Given the description of an element on the screen output the (x, y) to click on. 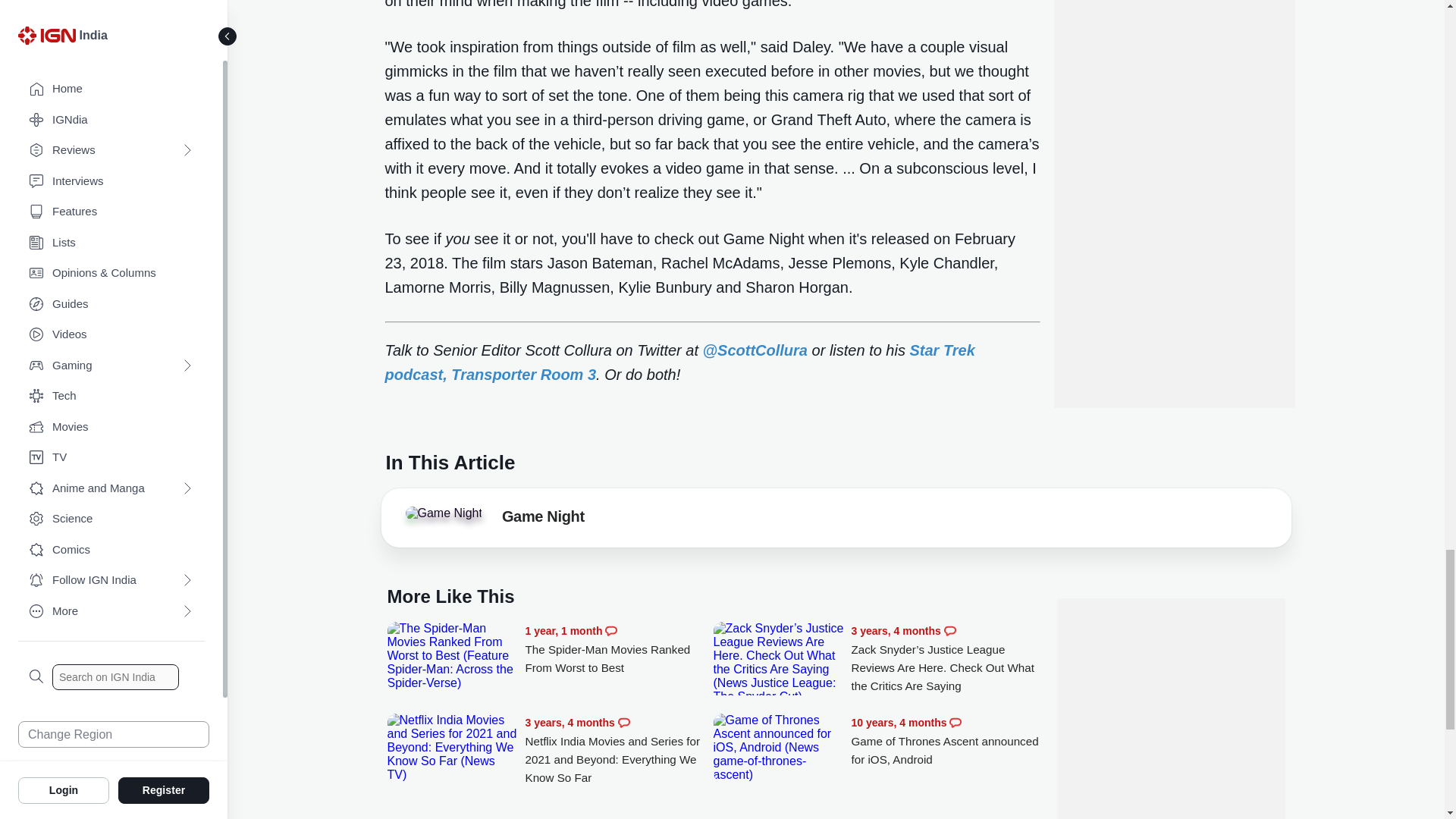
The Spider-Man Movies Ranked From Worst to Best (451, 655)
Game of Thrones Ascent announced for iOS, Android (778, 747)
Game Night (442, 513)
The Spider-Man Movies Ranked From Worst to Best (618, 649)
Game of Thrones Ascent announced for iOS, Android (944, 741)
Game Night (448, 517)
Game Night (543, 518)
